Given the description of an element on the screen output the (x, y) to click on. 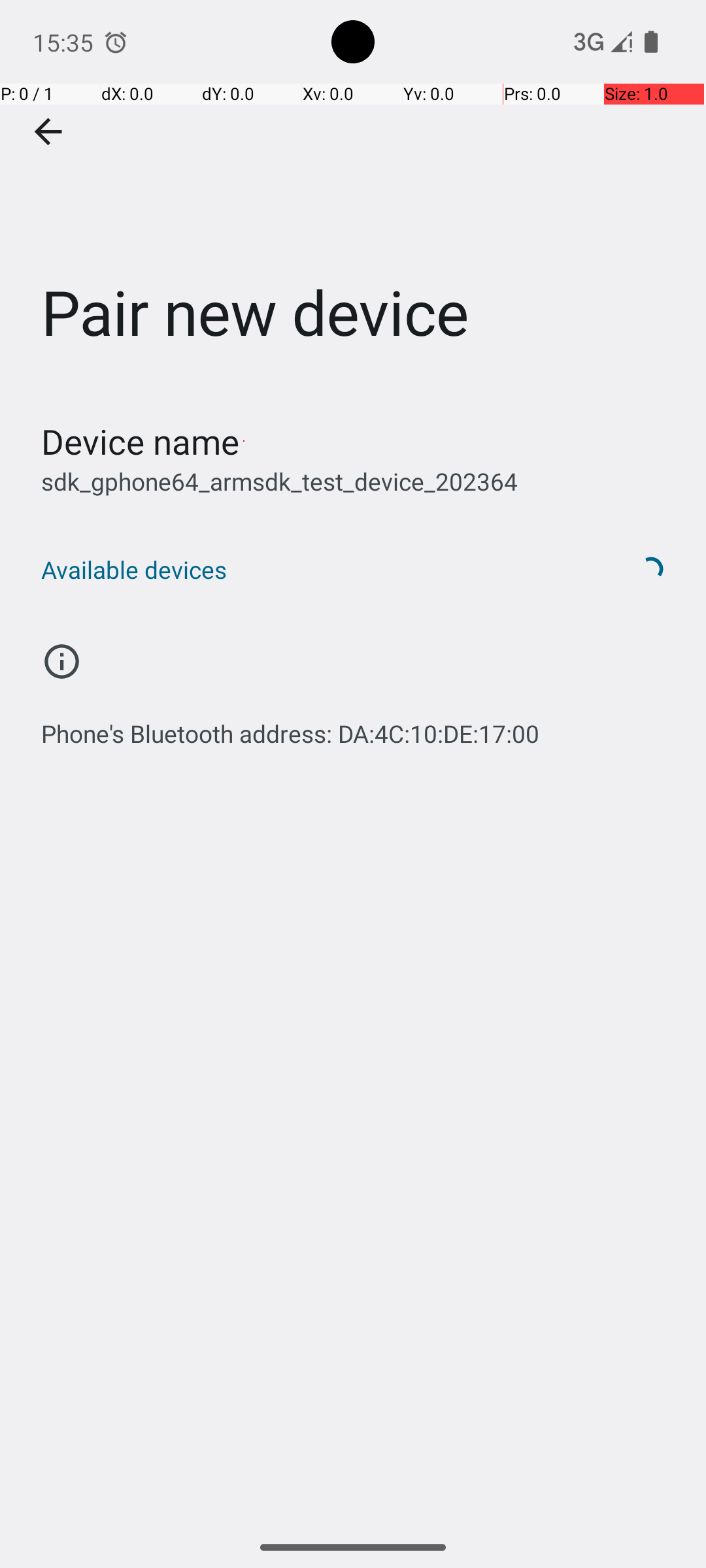
sdk_gphone64_armsdk_test_device_202364 Element type: android.widget.TextView (279, 480)
Available devices Element type: android.widget.TextView (318, 569)
Phone's Bluetooth address: DA:4C:10:DE:17:00 Element type: android.widget.TextView (290, 726)
